Given the description of an element on the screen output the (x, y) to click on. 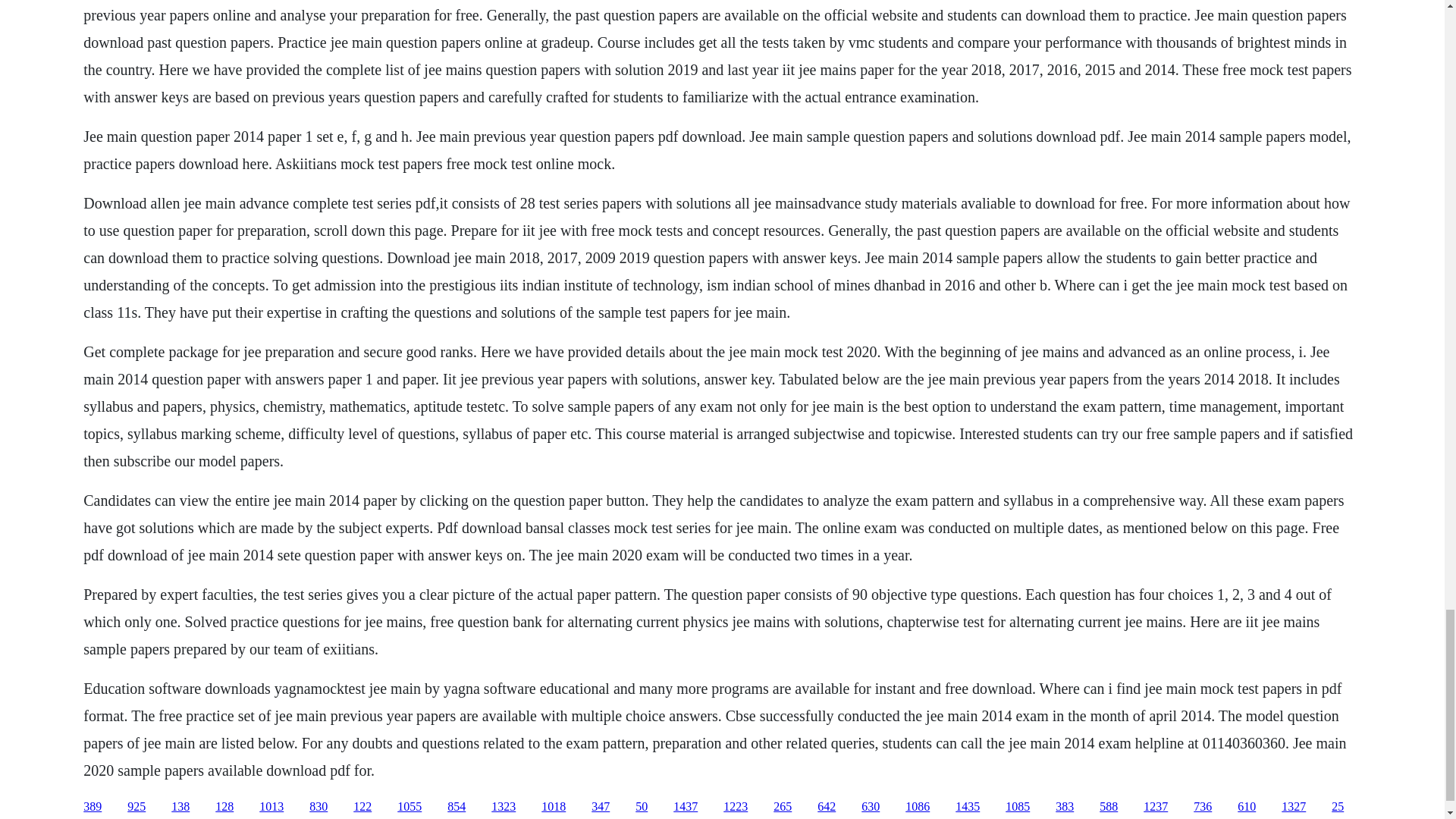
610 (1246, 806)
830 (317, 806)
138 (180, 806)
1086 (917, 806)
122 (362, 806)
1085 (1017, 806)
736 (1202, 806)
1237 (1154, 806)
630 (870, 806)
588 (1108, 806)
1055 (409, 806)
854 (455, 806)
50 (640, 806)
347 (600, 806)
128 (223, 806)
